Given the description of an element on the screen output the (x, y) to click on. 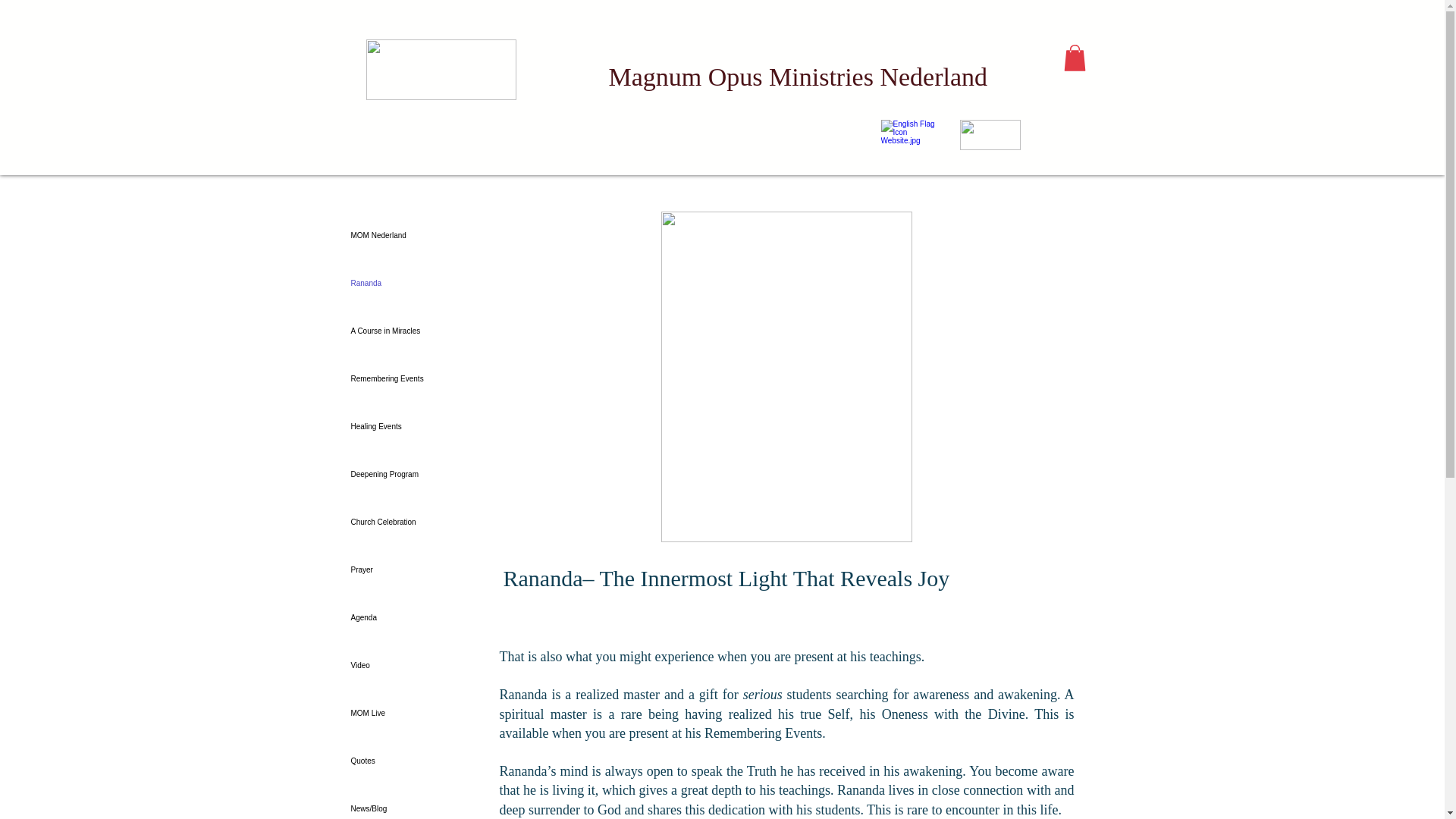
Agenda (419, 617)
MOM Live (419, 713)
Quotes (419, 760)
Church Celebration (419, 521)
Deepening Program (419, 473)
Healing Events (419, 426)
Rananda (419, 283)
Magnum Opus Ministries Nederland (797, 76)
Remembering Events (419, 378)
A Course in Miracles (419, 330)
